Given the description of an element on the screen output the (x, y) to click on. 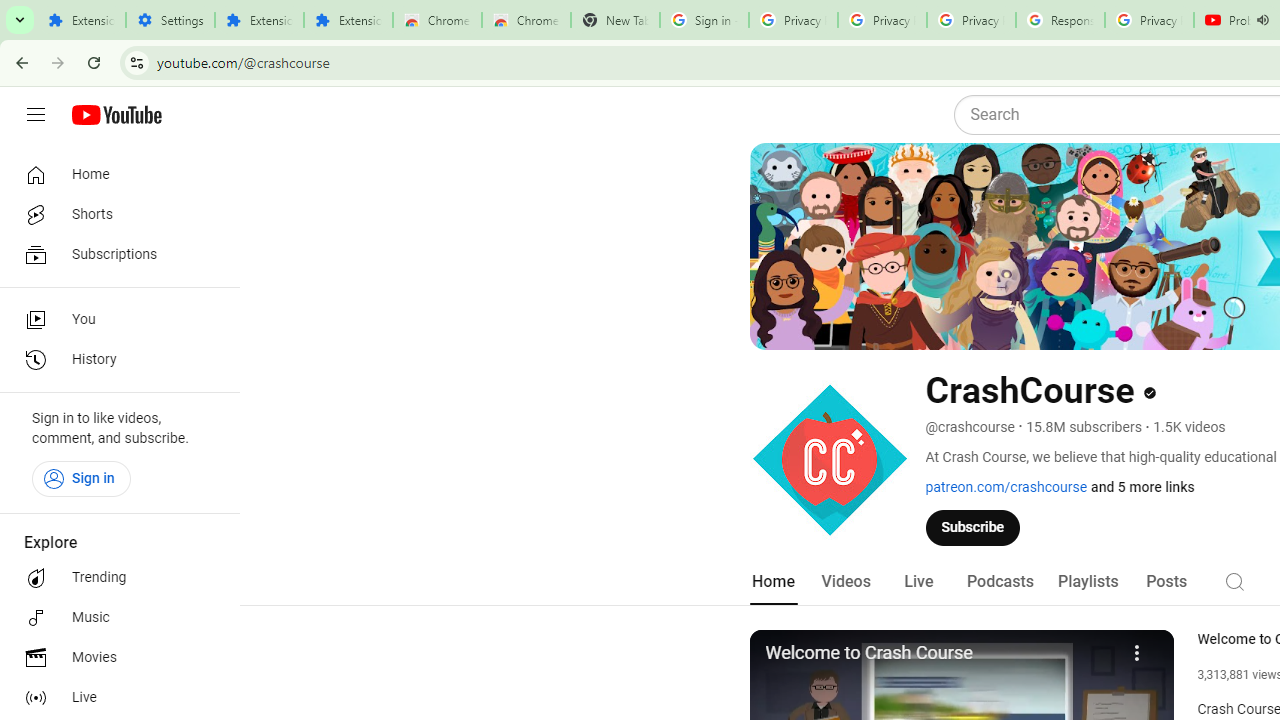
More (1137, 650)
and 5 more links (1142, 487)
Subscribe (973, 527)
YouTube Home (116, 115)
Home (113, 174)
Movies (113, 657)
Trending (113, 578)
Live (113, 697)
